Given the description of an element on the screen output the (x, y) to click on. 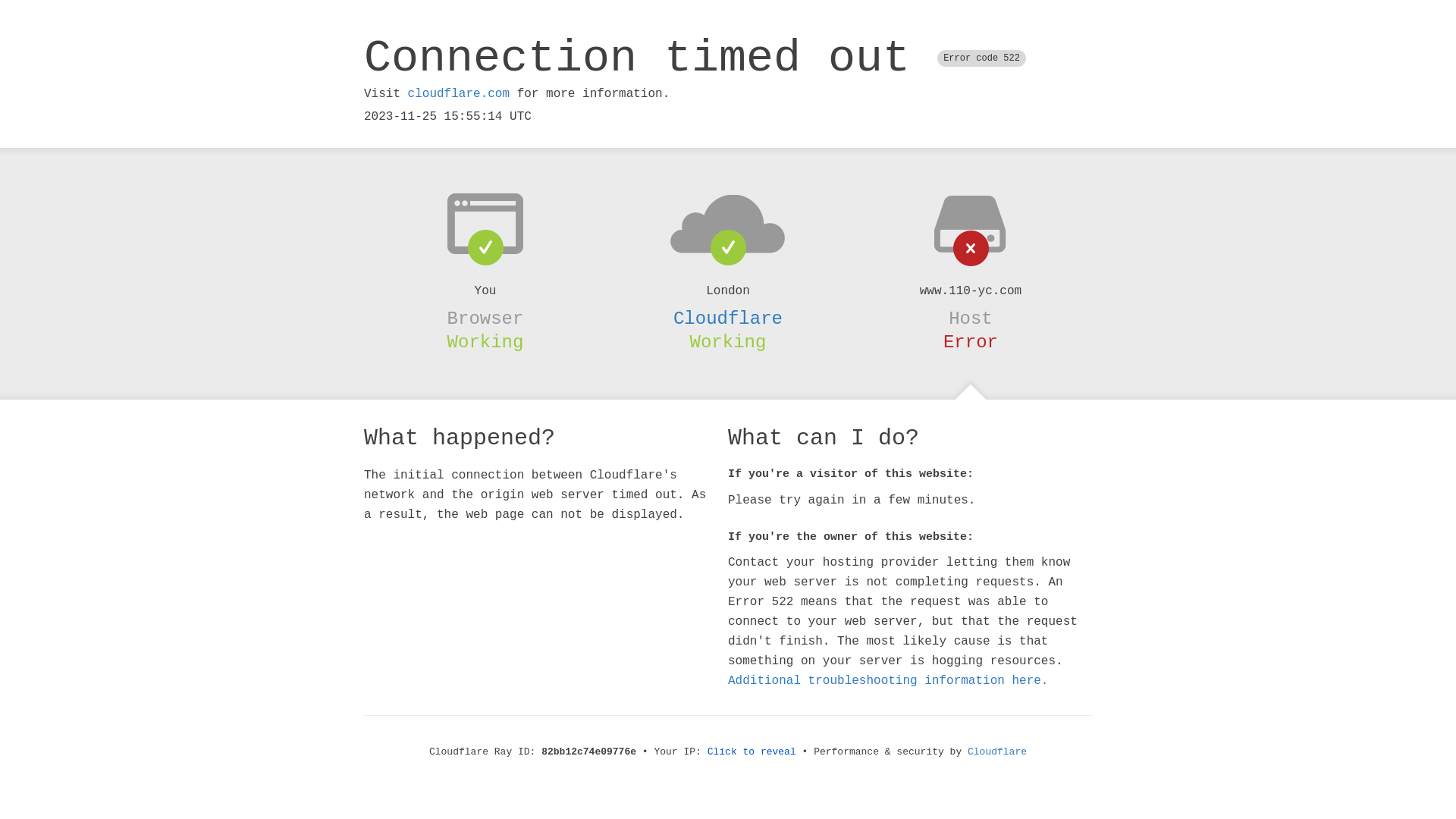
Cloudflare Element type: text (727, 318)
Click to reveal Element type: text (751, 751)
Cloudflare Element type: text (996, 751)
Additional troubleshooting information here. Element type: text (888, 680)
cloudflare.com Element type: text (458, 93)
